Given the description of an element on the screen output the (x, y) to click on. 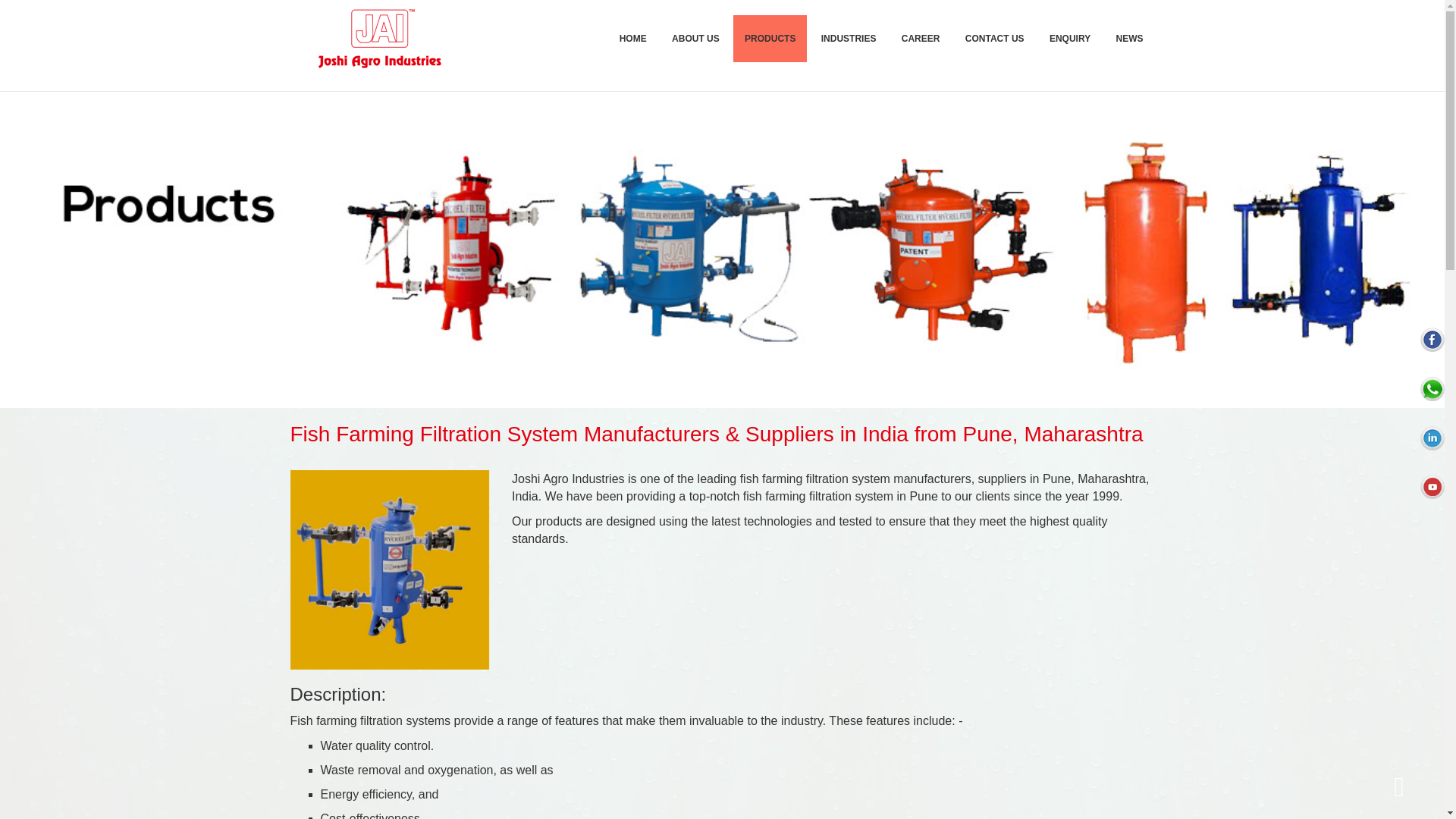
ABOUT US (695, 38)
PRODUCTS (769, 38)
INDUSTRIES (848, 38)
HOME (633, 38)
